Given the description of an element on the screen output the (x, y) to click on. 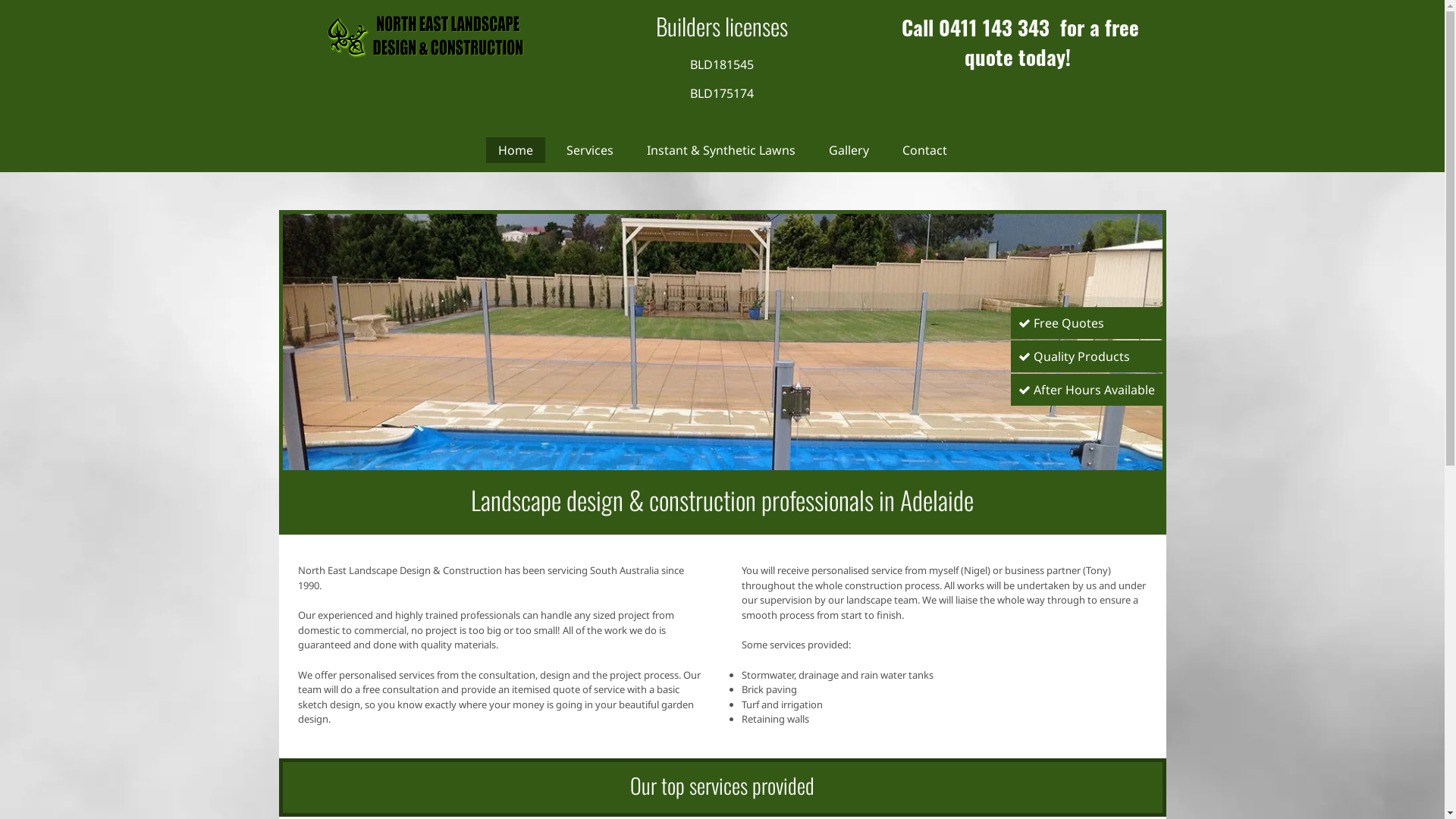
Gallery Element type: text (847, 150)
HomePage_Hero Element type: hover (721, 341)
Services Element type: text (588, 150)
0411 143 343 Element type: text (993, 27)
N E logo Element type: hover (425, 33)
Contact Element type: text (924, 150)
Home Element type: text (514, 150)
Instant & Synthetic Lawns Element type: text (719, 150)
